Given the description of an element on the screen output the (x, y) to click on. 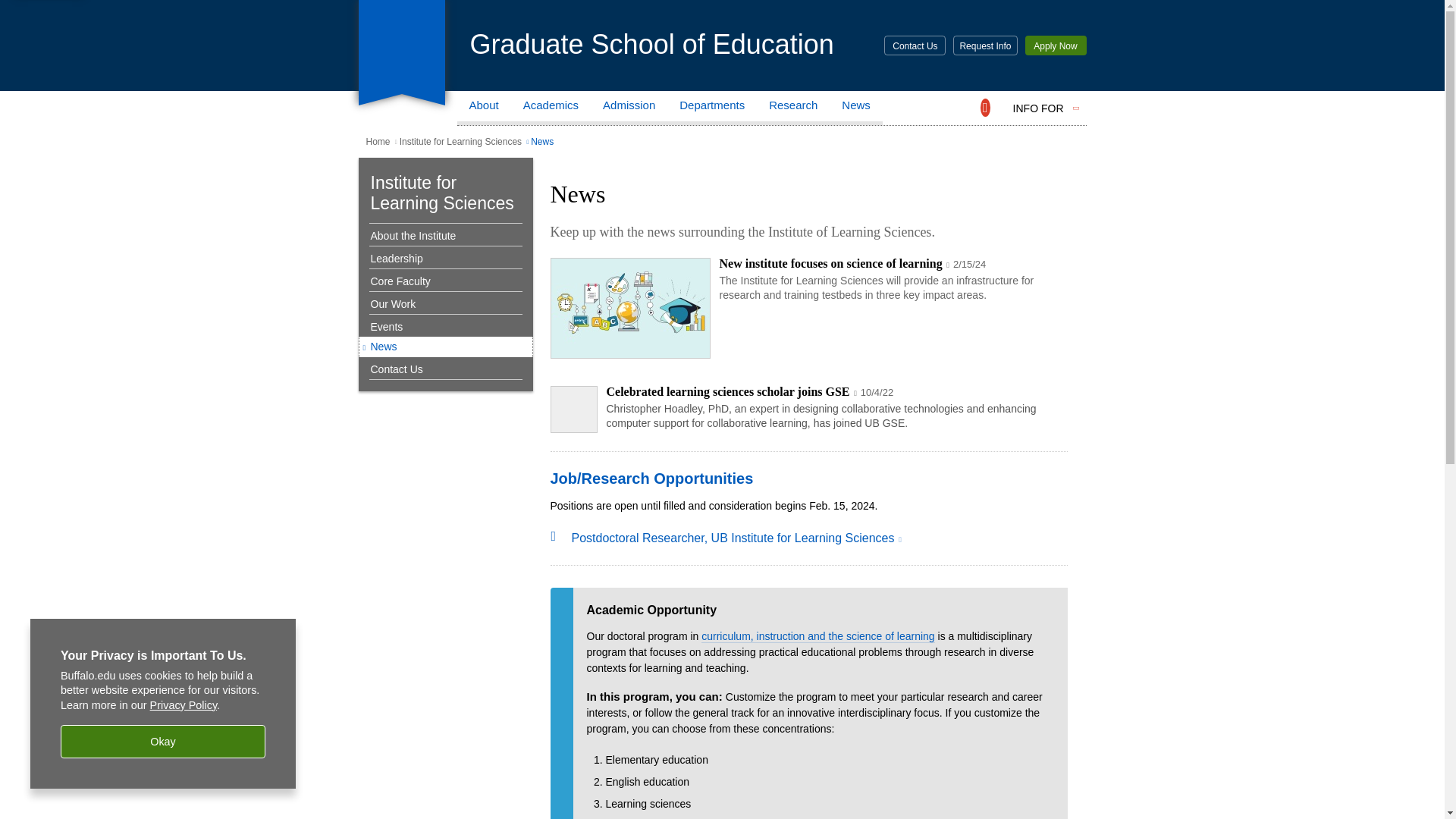
Academics (551, 107)
Contact Us (913, 45)
This link opens a page in a new window or tab. (736, 537)
This link opens a page in a new window or tab. (808, 264)
Apply Now (1055, 45)
Graduate School of Education (652, 43)
About (484, 107)
This link opens a page in a new window or tab. (808, 392)
Request Info (984, 45)
